Given the description of an element on the screen output the (x, y) to click on. 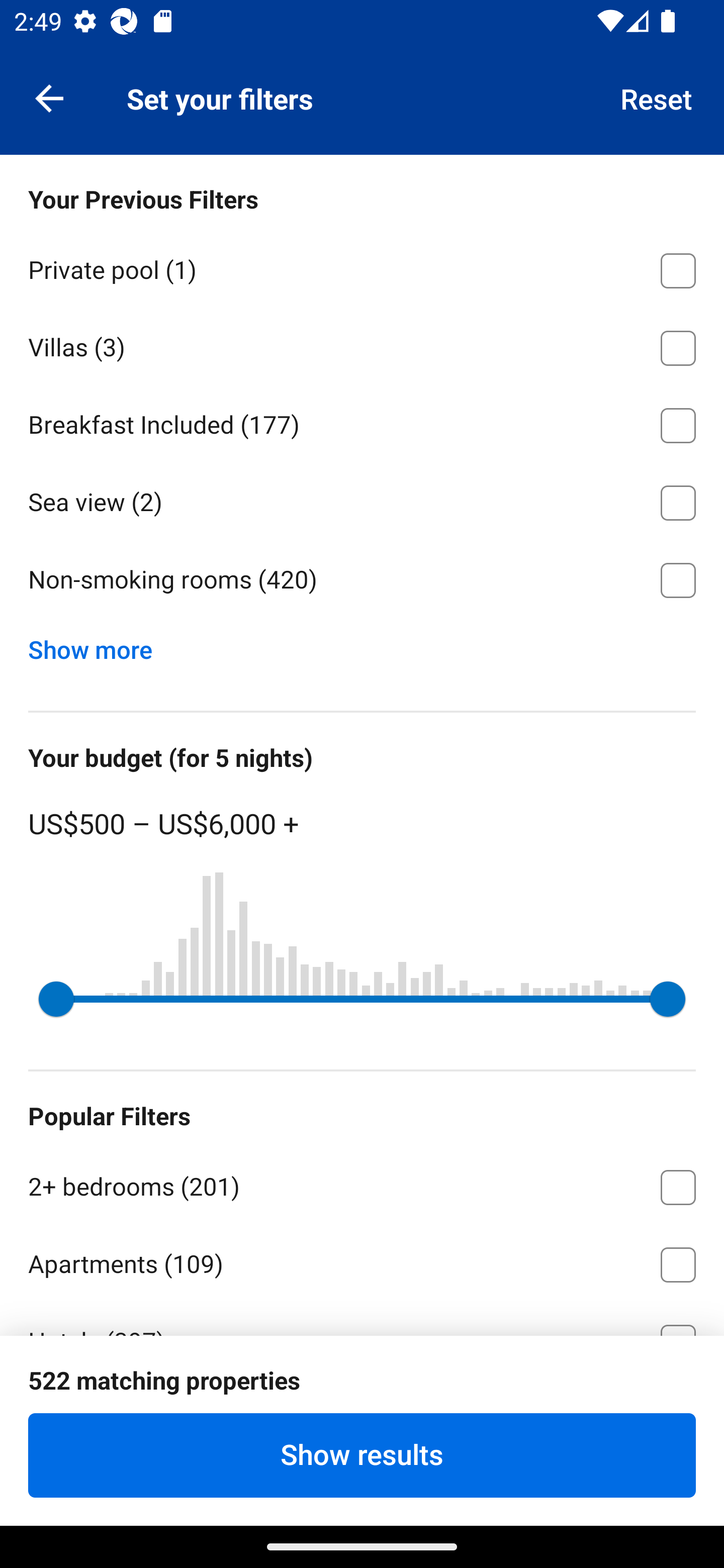
Navigate up (49, 97)
Reset (656, 97)
Private pool ⁦(1) (361, 266)
Villas ⁦(3) (361, 344)
Breakfast Included ⁦(177) (361, 422)
Sea view ⁦(2) (361, 498)
Non-smoking rooms ⁦(420) (361, 579)
Show more (97, 645)
2+ bedrooms ⁦(201) (361, 1183)
Apartments ⁦(109) (361, 1261)
Show results (361, 1454)
